Given the description of an element on the screen output the (x, y) to click on. 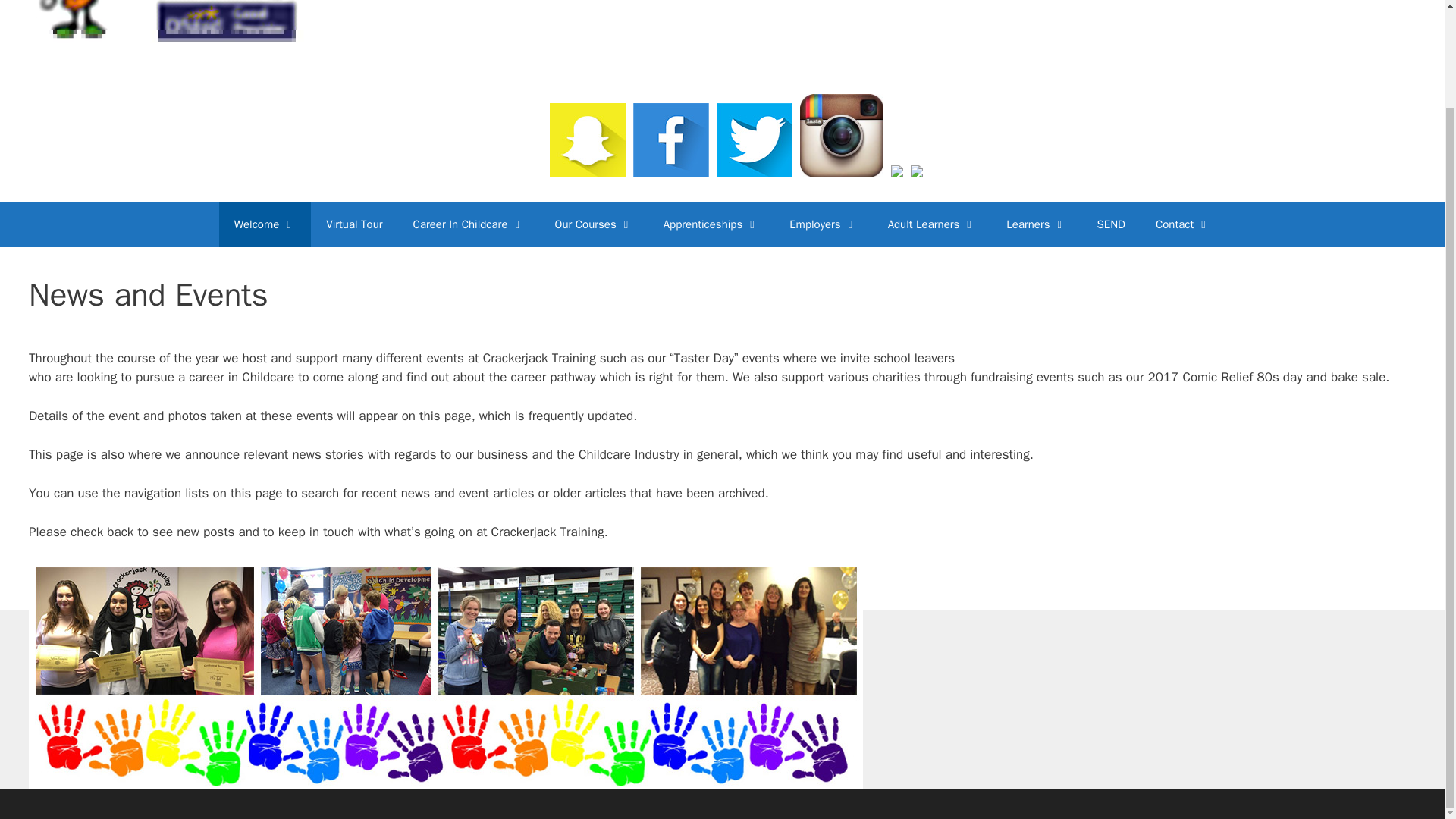
Welcome (265, 224)
